Given the description of an element on the screen output the (x, y) to click on. 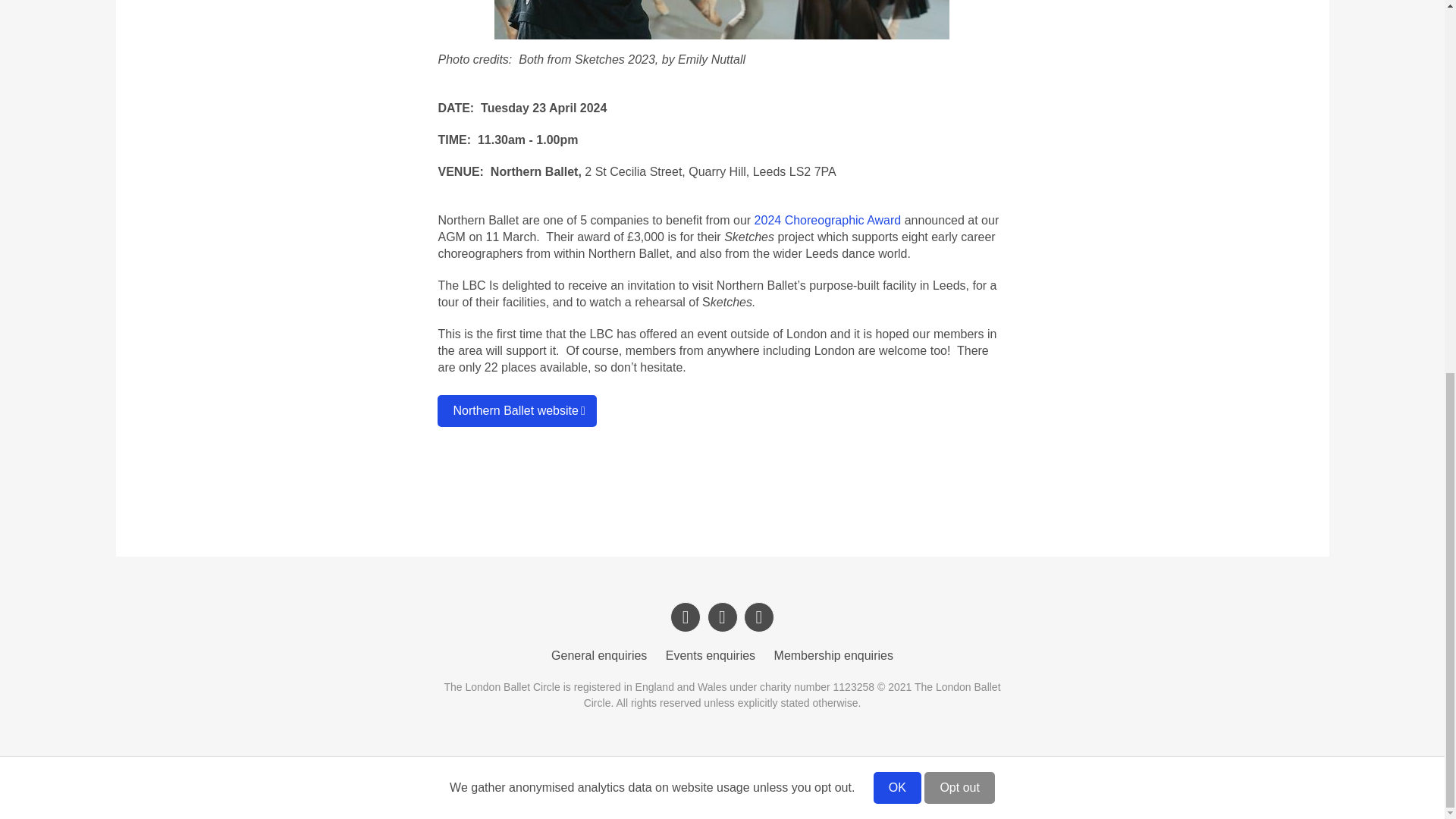
Log in (660, 787)
General enquiries (598, 655)
Opt out (959, 106)
2024 Choreographic Award (827, 219)
White Fuse (770, 787)
OK (897, 106)
Northern Ballet website (516, 410)
Membership enquiries (833, 655)
Events enquiries (710, 655)
